Given the description of an element on the screen output the (x, y) to click on. 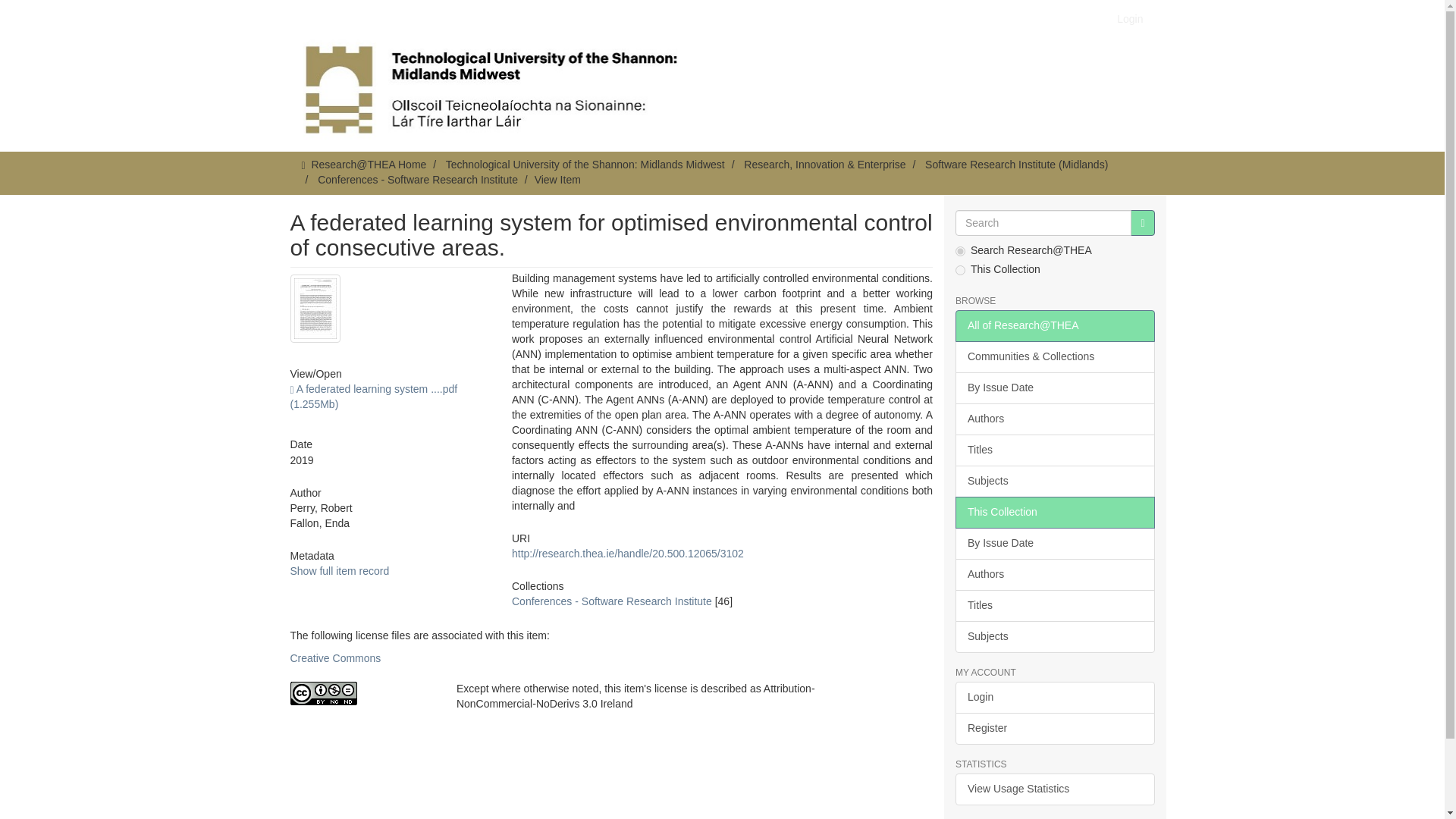
This Collection (1054, 512)
Technological University of the Shannon: Midlands Midwest (585, 164)
Authors (1054, 574)
Attribution-NonCommercial-NoDerivs 3.0 Ireland (360, 693)
Conferences - Software Research Institute (611, 601)
By Issue Date (1054, 543)
Go (1142, 222)
Login (1129, 18)
Show full item record (338, 571)
Conferences - Software Research Institute (417, 179)
